Given the description of an element on the screen output the (x, y) to click on. 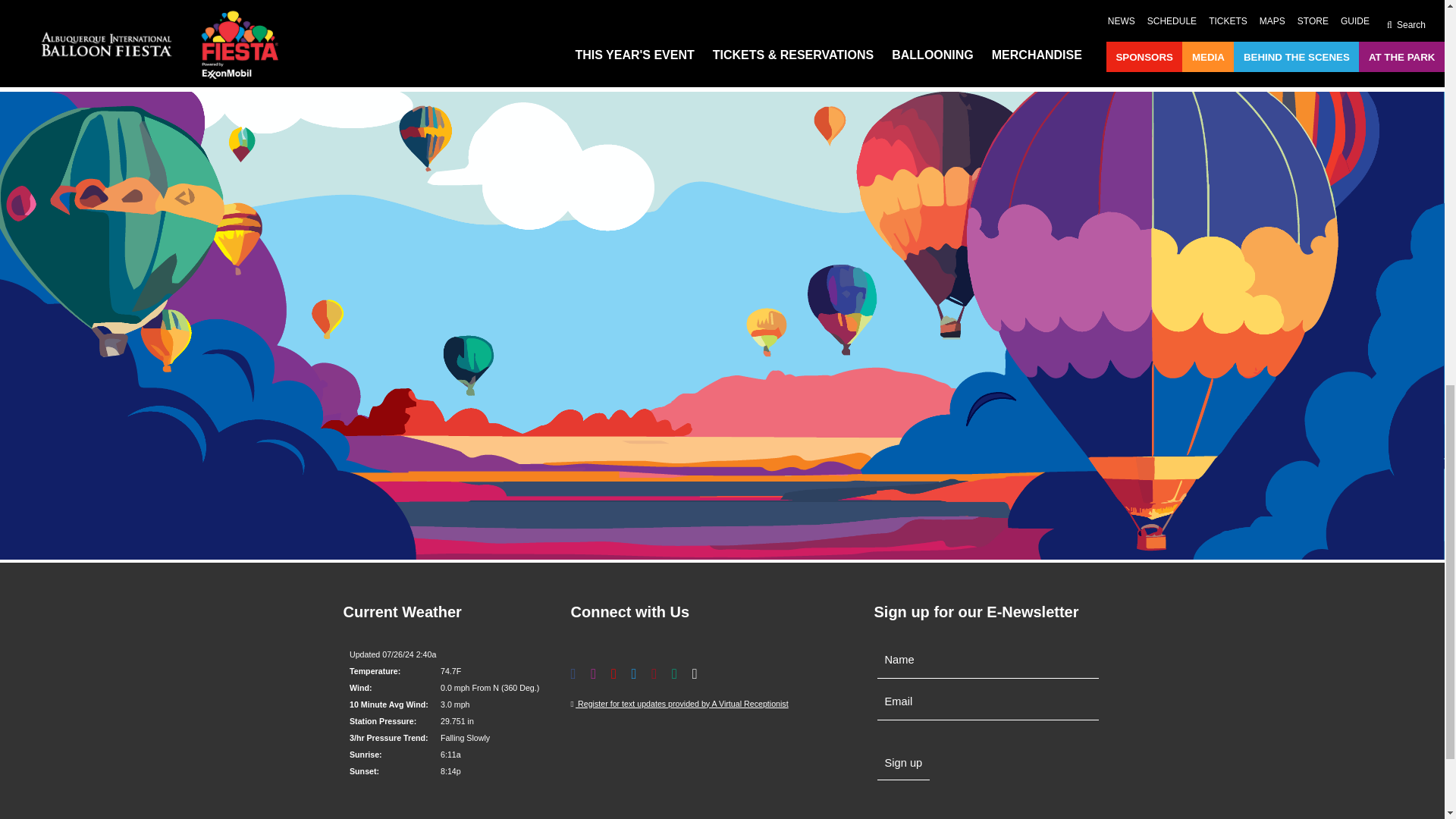
Sign up (902, 762)
